Given the description of an element on the screen output the (x, y) to click on. 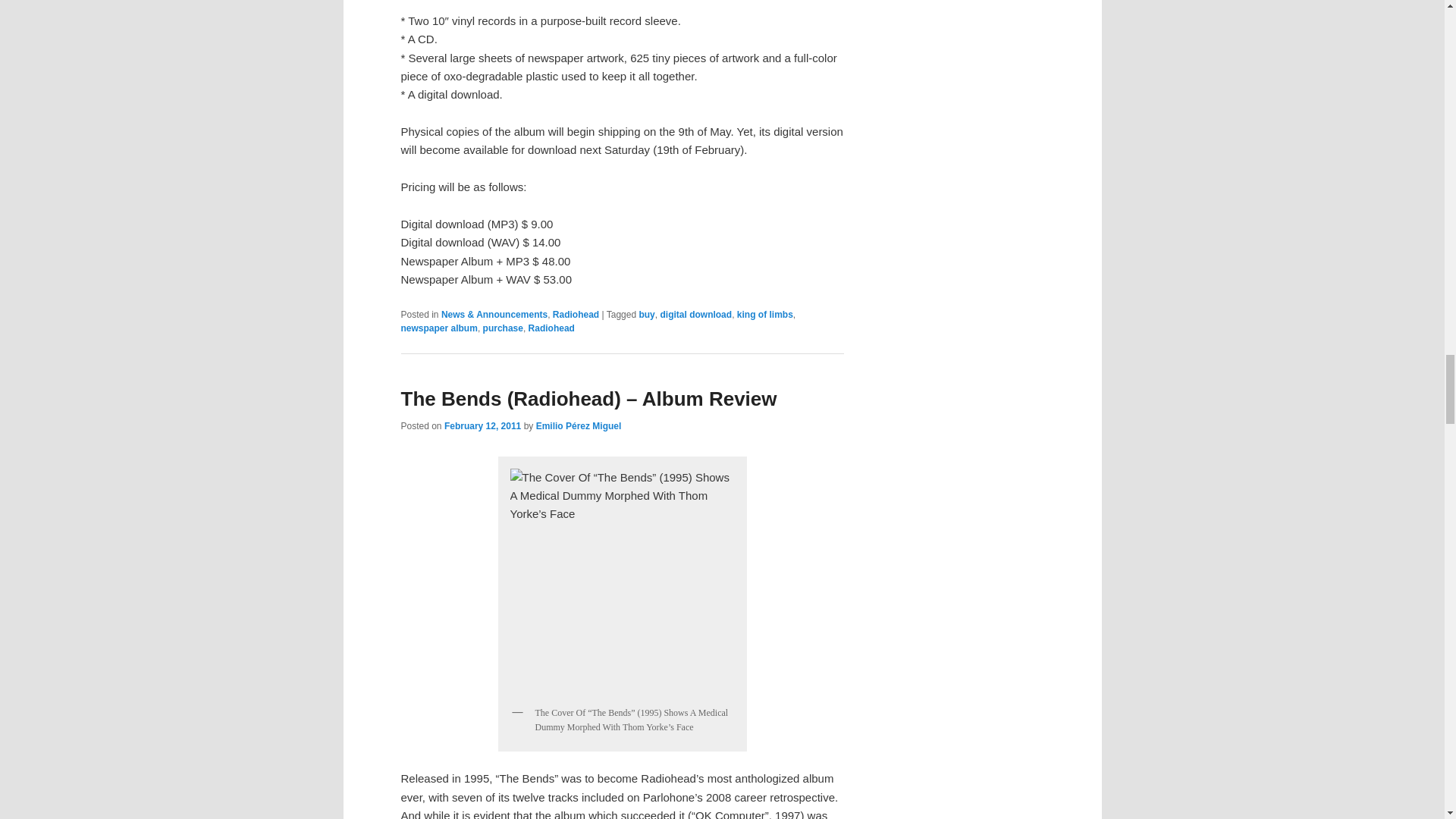
radiohead the bends (622, 580)
6:53 am (482, 425)
